Given the description of an element on the screen output the (x, y) to click on. 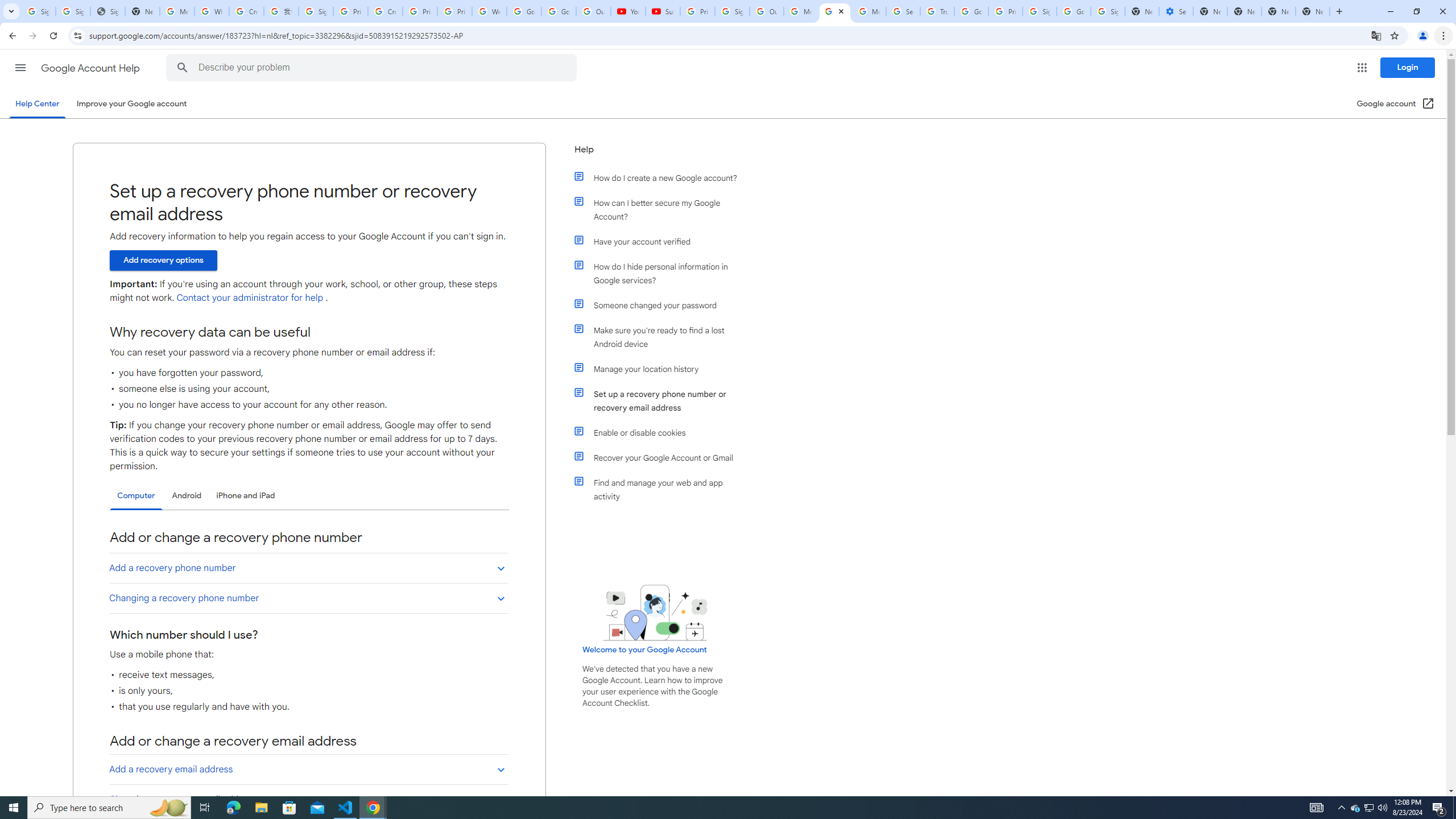
Create your Google Account (246, 11)
Search the Help Center (181, 67)
Search our Doodle Library Collection - Google Doodles (903, 11)
Learning Center home page image (655, 612)
Manage your location history (661, 368)
Google Cybersecurity Innovations - Google Safety Center (1073, 11)
Translate this page (1376, 35)
